Given the description of an element on the screen output the (x, y) to click on. 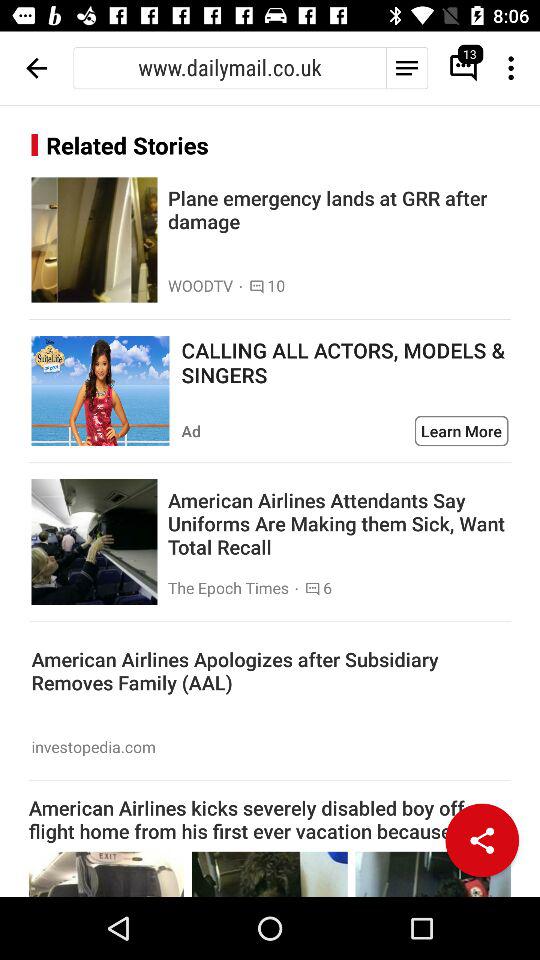
view advertisement (100, 391)
